Given the description of an element on the screen output the (x, y) to click on. 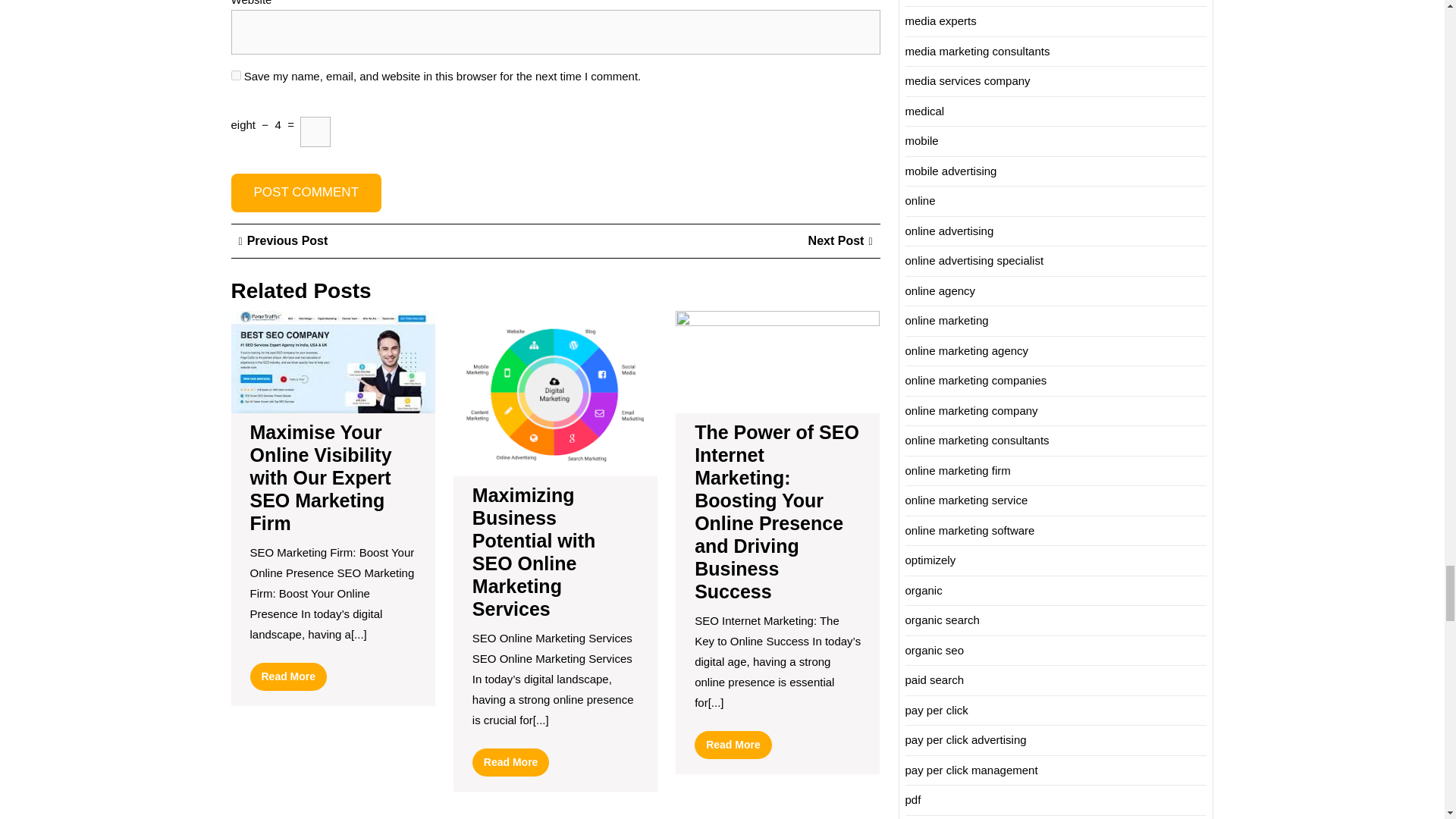
yes (235, 75)
Post Comment (305, 192)
